Given the description of an element on the screen output the (x, y) to click on. 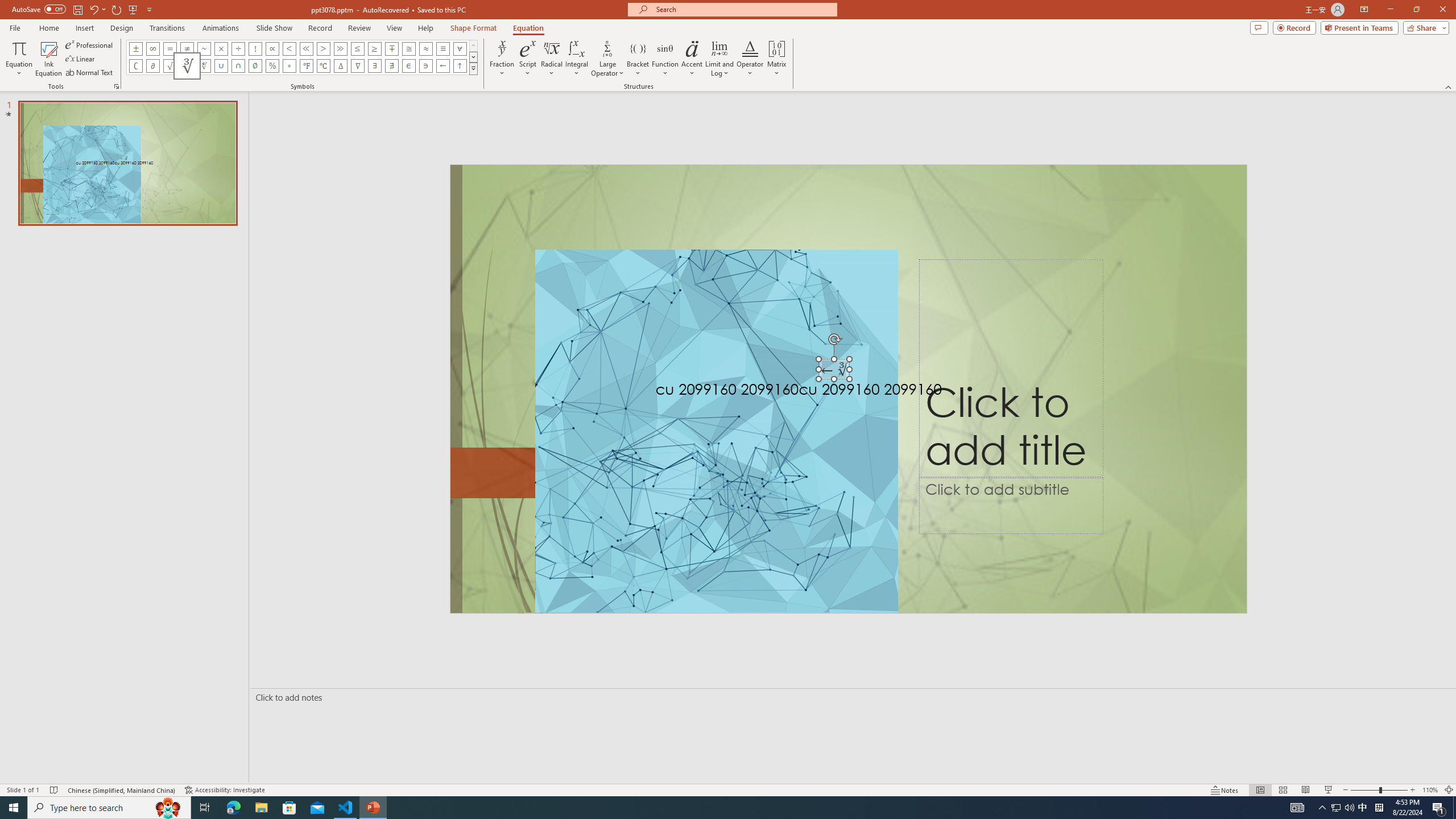
Matrix (776, 58)
Equation Symbol There Does Not Exist (391, 65)
Linear (81, 58)
Equation Symbol Union (221, 65)
Integral (576, 58)
Professional (90, 44)
Equation Symbol Less Than (289, 48)
Equation Symbol Degrees (289, 65)
Equation Symbol Much Less Than (306, 48)
Script (527, 58)
